Given the description of an element on the screen output the (x, y) to click on. 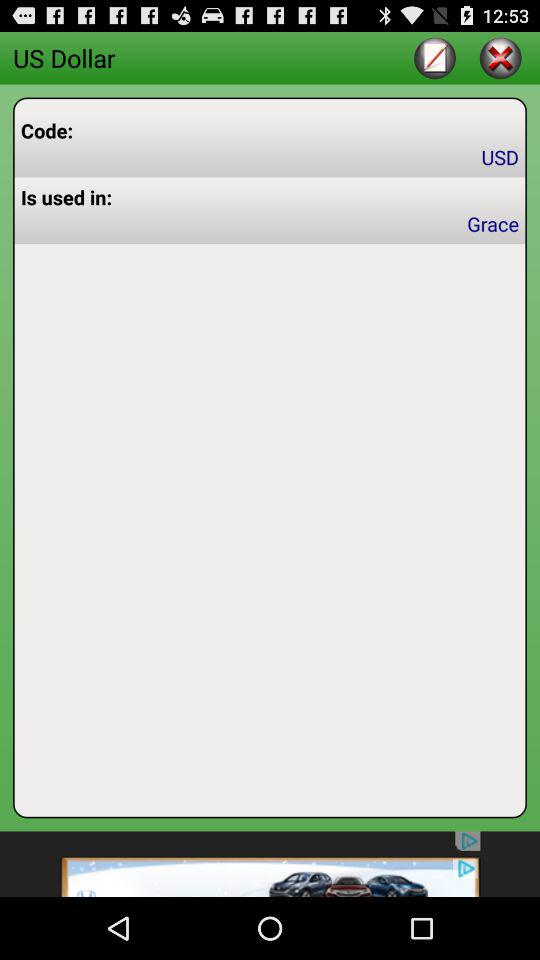
close window (500, 57)
